Given the description of an element on the screen output the (x, y) to click on. 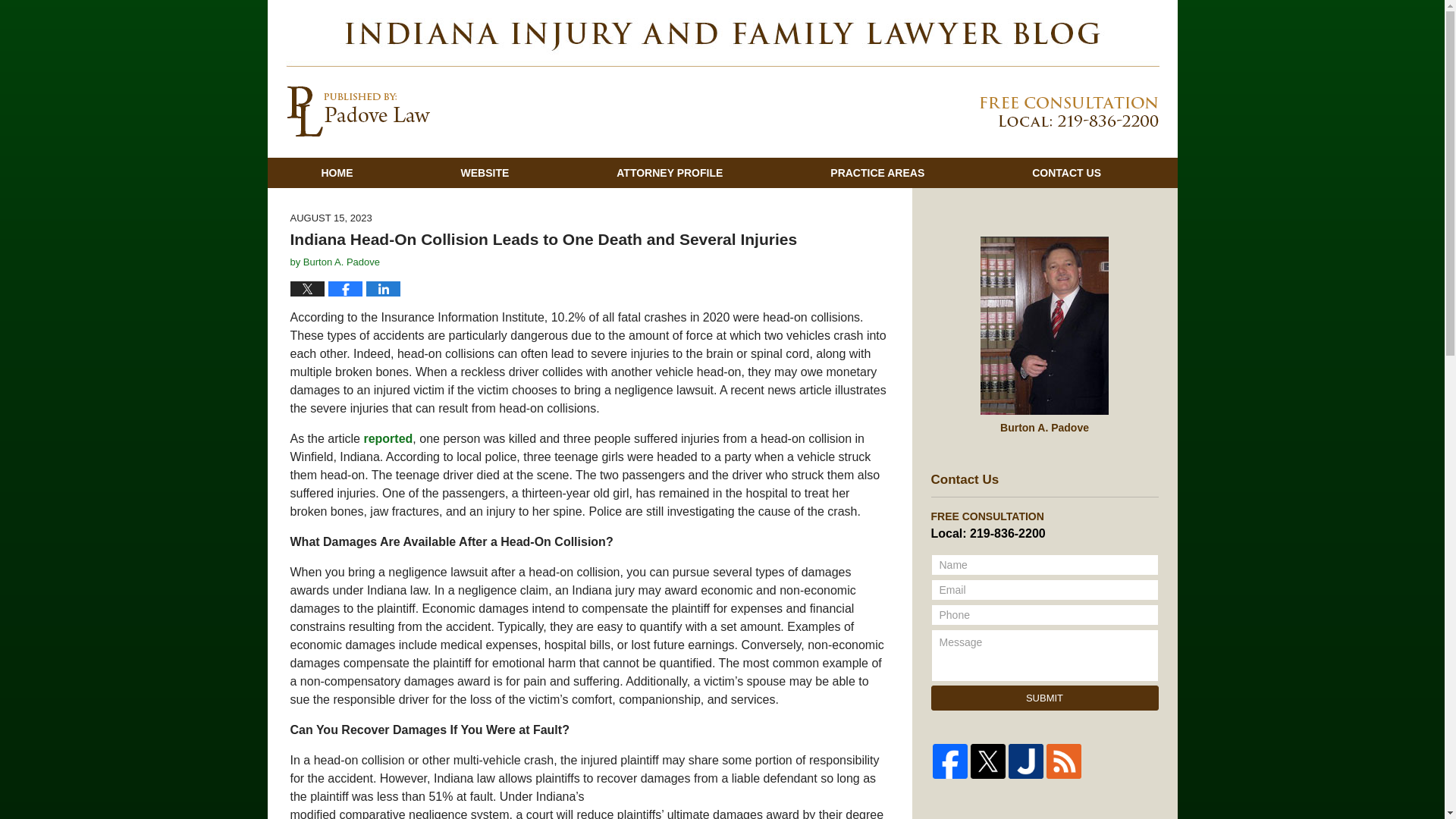
WEBSITE (484, 173)
Twitter (988, 760)
ATTORNEY PROFILE (669, 173)
Published By Padove Law (1062, 112)
Justia (1026, 760)
HOME (336, 173)
Indiana Injury And Family Lawyer Blog (357, 111)
Feed (1064, 760)
Burton A. Padove (341, 261)
Please enter a valid phone number. (1044, 614)
Facebook (950, 760)
SUBMIT (1044, 697)
reported (387, 438)
PRACTICE AREAS (877, 173)
CONTACT US (1066, 173)
